Given the description of an element on the screen output the (x, y) to click on. 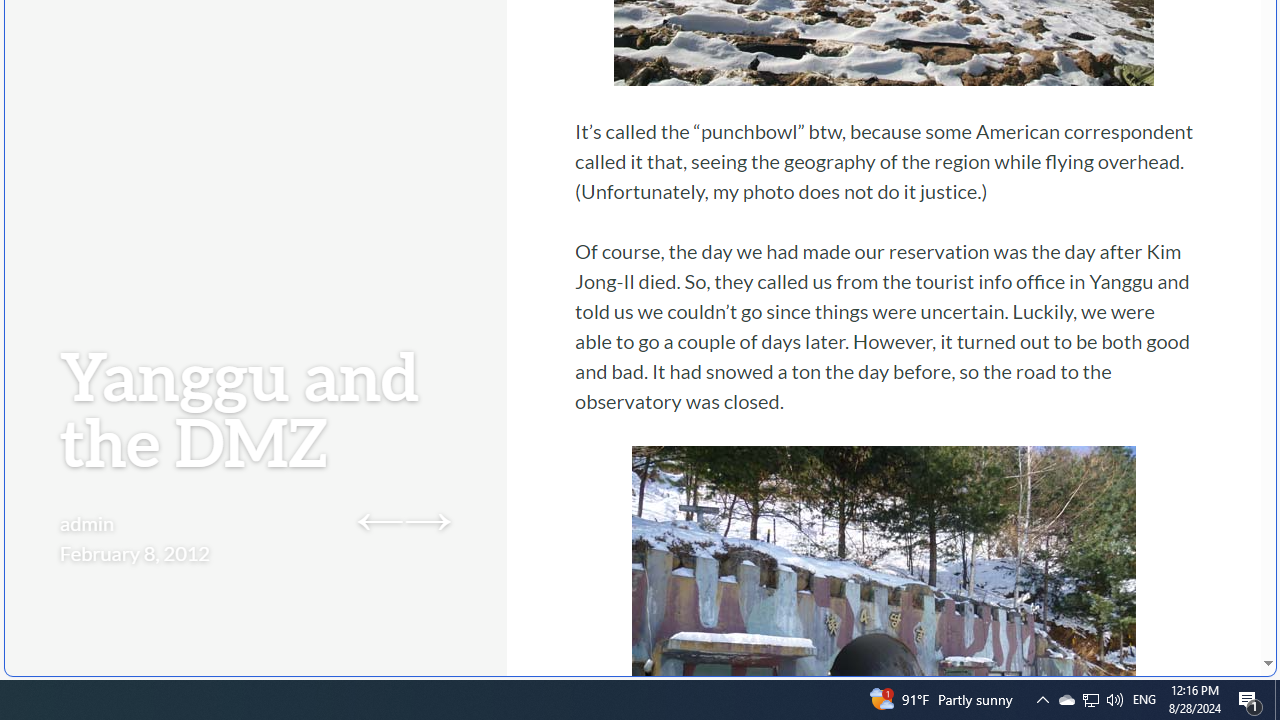
admin (87, 522)
February 8, 2012 (134, 552)
